Given the description of an element on the screen output the (x, y) to click on. 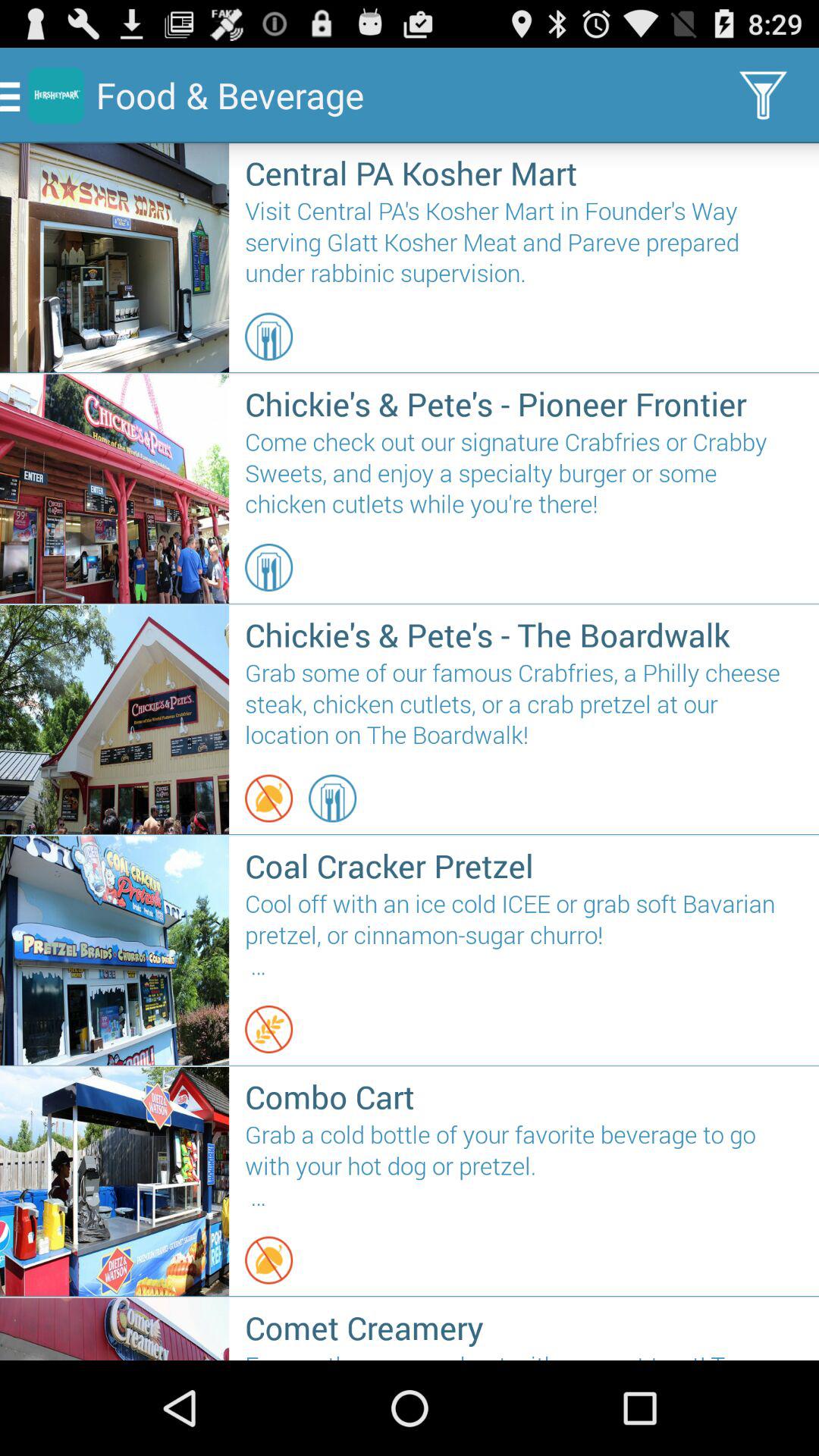
tap the coal cracker pretzel icon (524, 865)
